Given the description of an element on the screen output the (x, y) to click on. 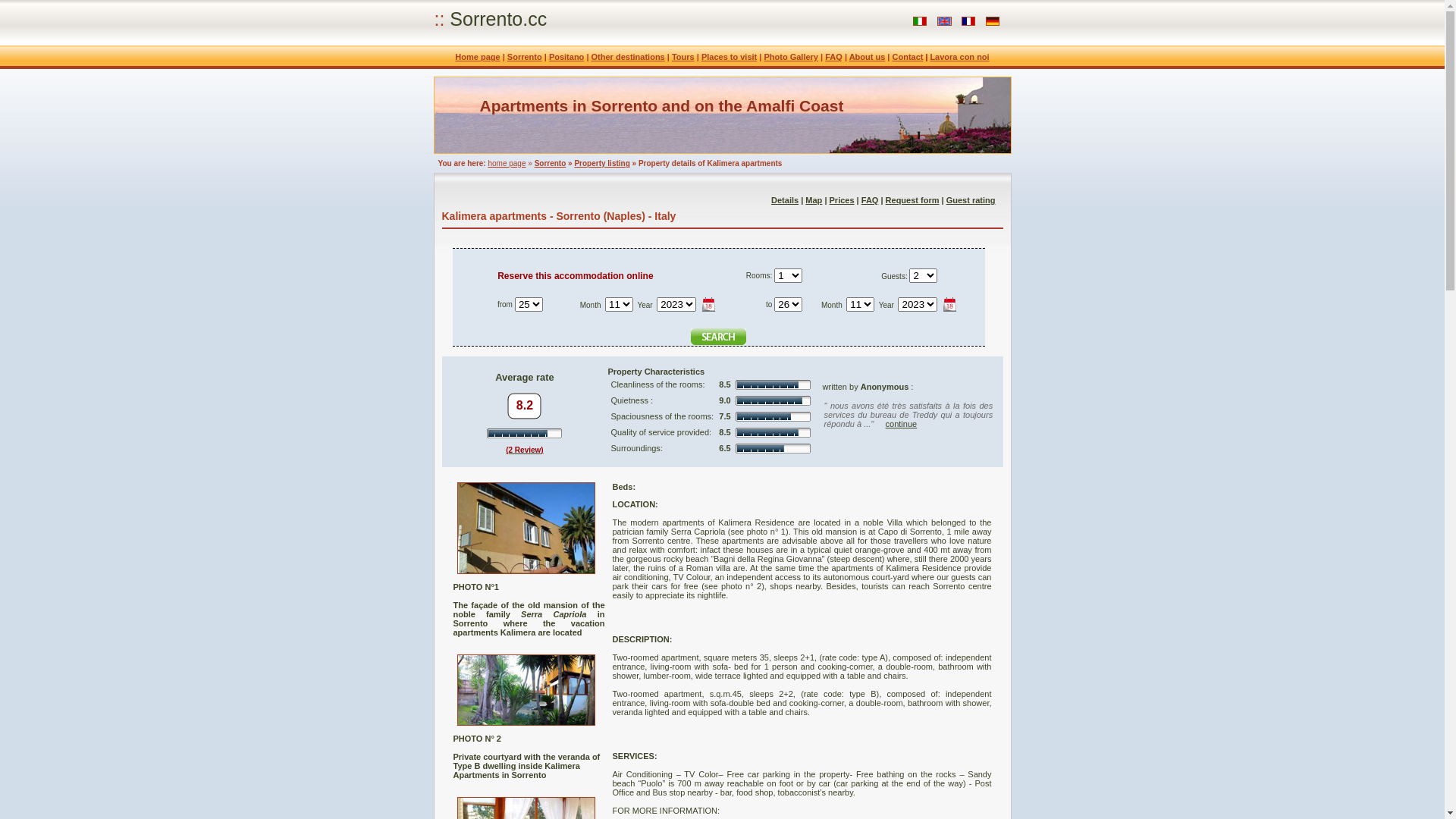
Home page Element type: text (477, 56)
Positano Element type: text (566, 56)
English Version Element type: hover (944, 22)
Lavora con noi Element type: text (958, 56)
Other destinations Element type: text (628, 56)
Tours Element type: text (682, 56)
Prices Element type: text (841, 199)
Places to visit Element type: text (728, 56)
Sorrento Element type: text (550, 163)
Sorrento Element type: text (524, 56)
continue Element type: text (901, 423)
FAQ Element type: text (869, 199)
Guest rating Element type: text (970, 199)
FAQ Element type: text (833, 56)
Sorrento.cc Element type: text (497, 18)
Request form Element type: text (912, 199)
About us Element type: text (867, 56)
(2 Review) Element type: text (524, 457)
Versione Italiana Element type: hover (919, 22)
Map Element type: text (813, 199)
Details Element type: text (784, 199)
Deutsche Sprache Element type: hover (991, 22)
Property listing Element type: text (601, 163)
Contact Element type: text (906, 56)
home page Element type: text (506, 163)
Photo Gallery Element type: text (790, 56)
